Given the description of an element on the screen output the (x, y) to click on. 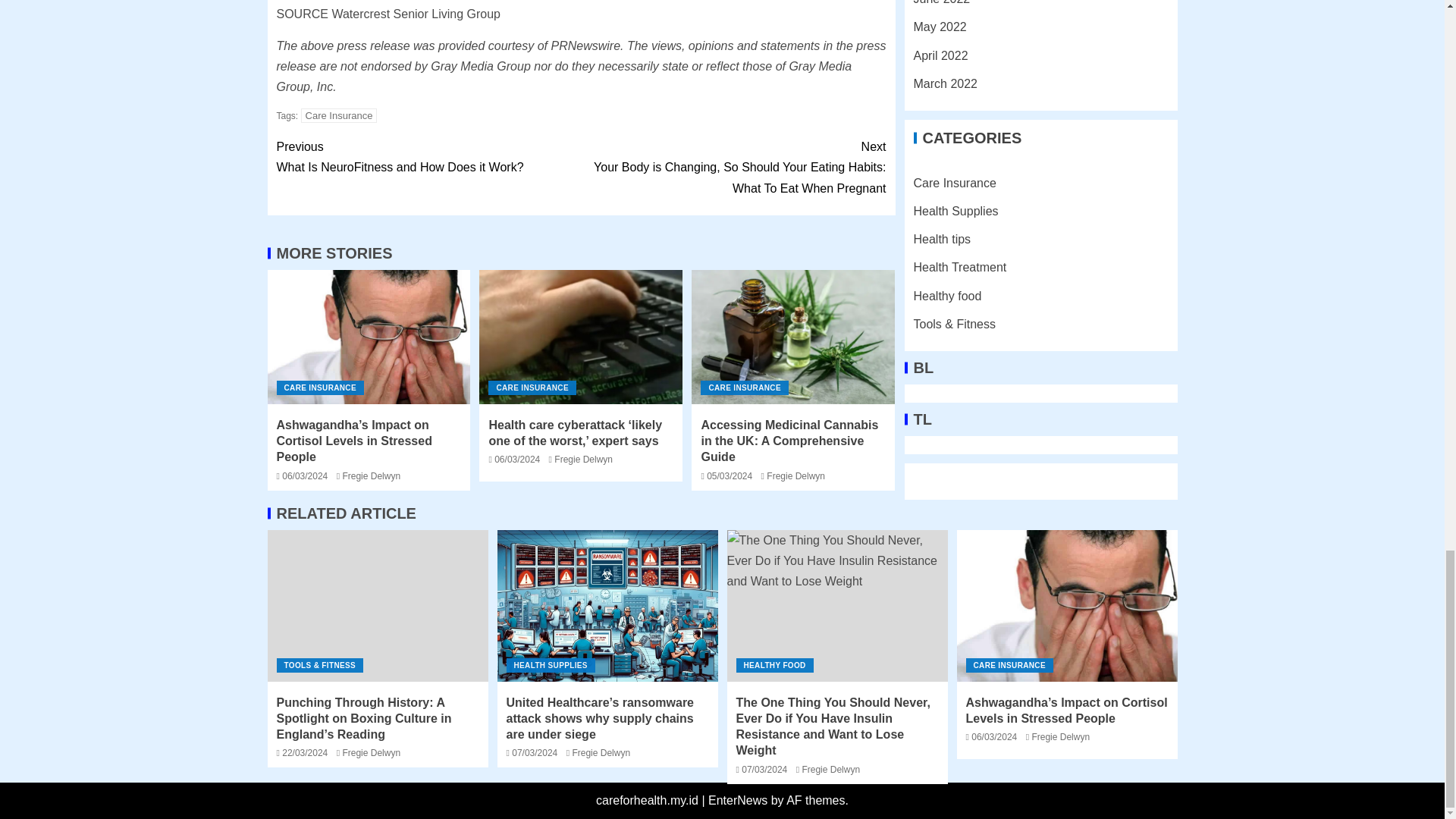
Care Insurance (339, 115)
CARE INSURANCE (428, 156)
